Given the description of an element on the screen output the (x, y) to click on. 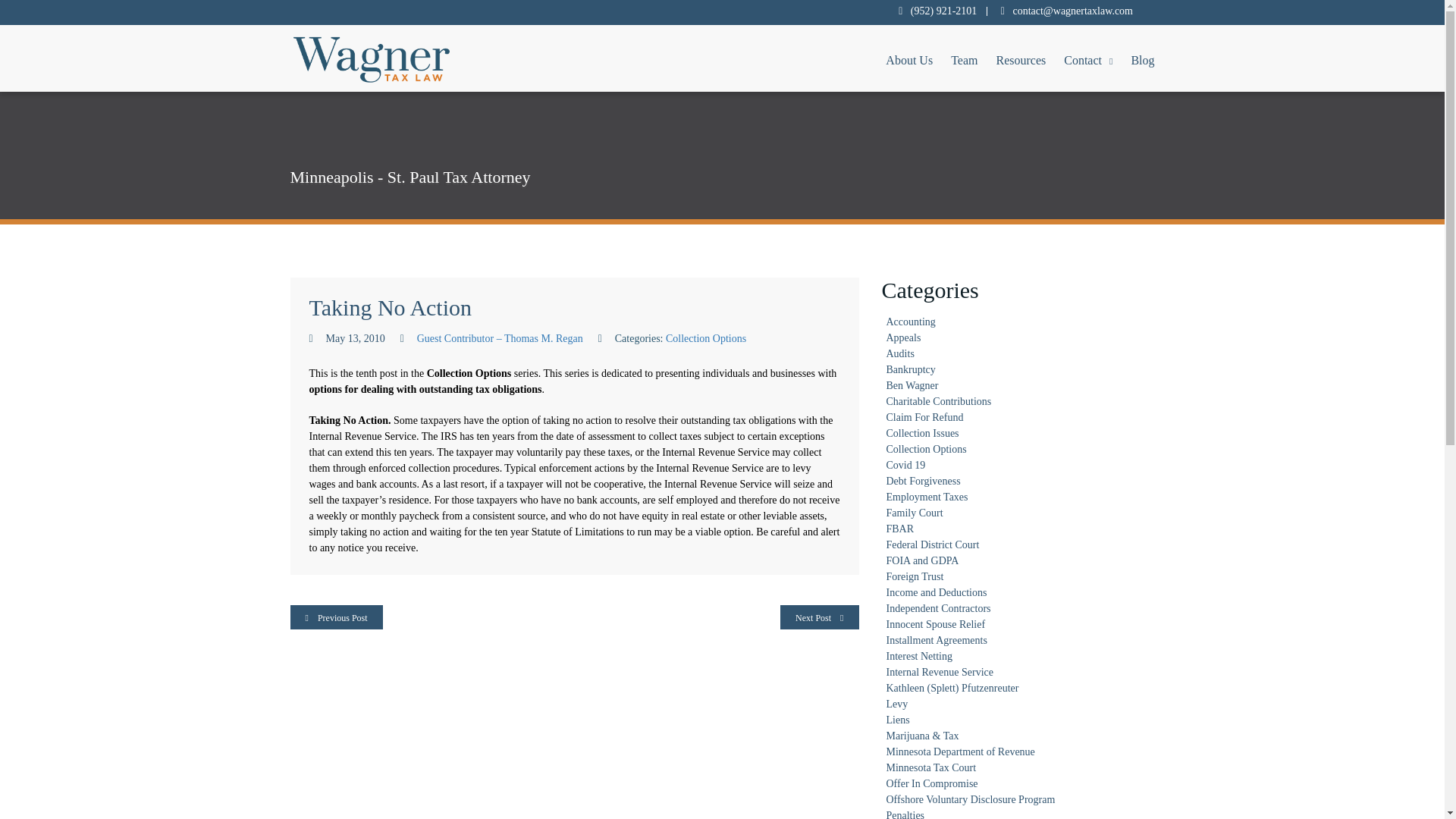
Foreign Trust (914, 576)
Collection Options (925, 449)
Covid 19 (904, 464)
Federal District Court (931, 544)
Innocent Spouse Relief (935, 624)
Audits (899, 353)
Bankruptcy (909, 369)
Installment Agreements (936, 640)
Family Court (913, 512)
Blog (1142, 57)
Appeals (902, 337)
Internal Revenue Service (938, 672)
Employment Taxes (926, 496)
FBAR (899, 528)
Resources (1020, 57)
